Given the description of an element on the screen output the (x, y) to click on. 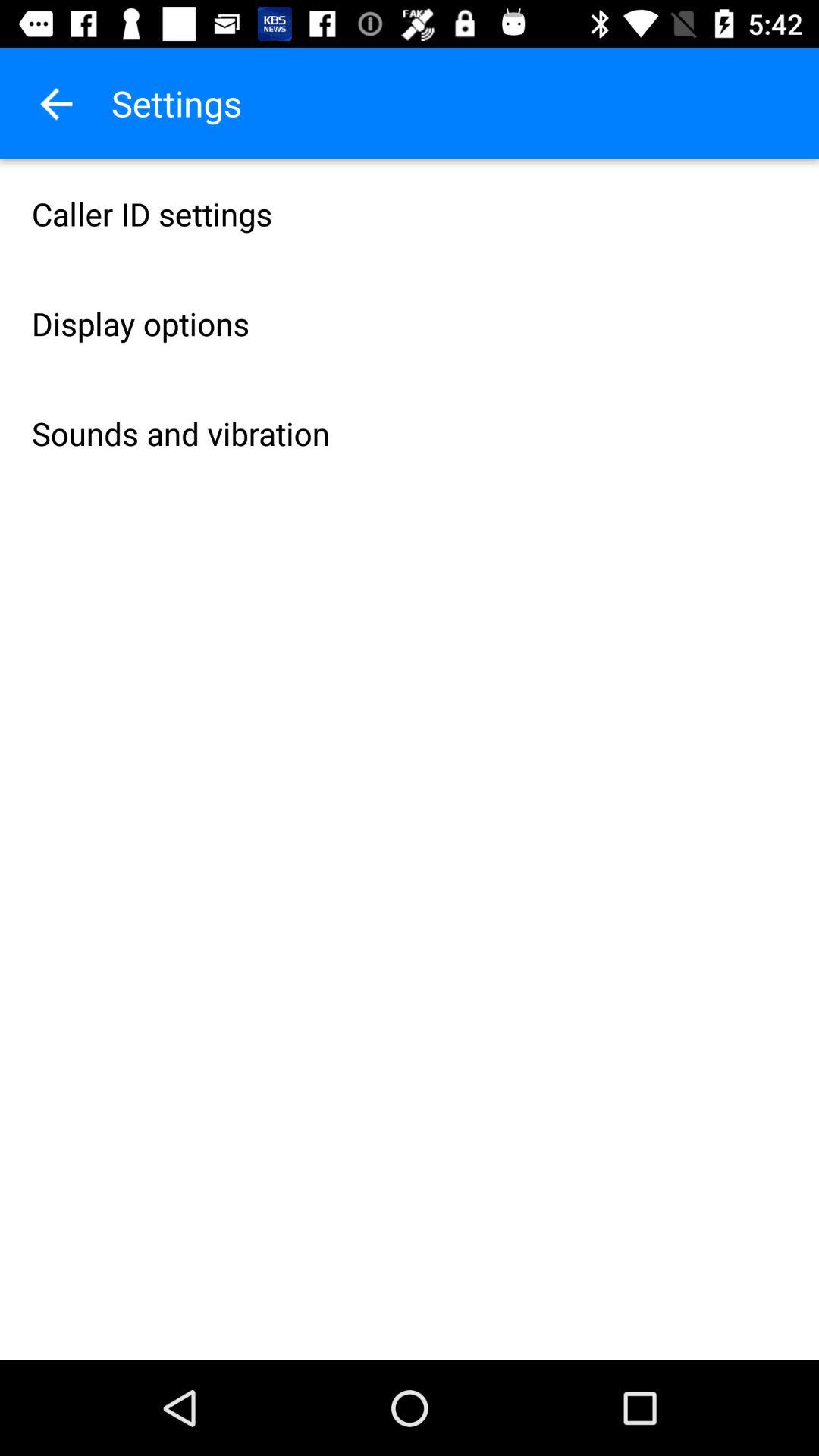
turn on icon above sounds and vibration (409, 323)
